Given the description of an element on the screen output the (x, y) to click on. 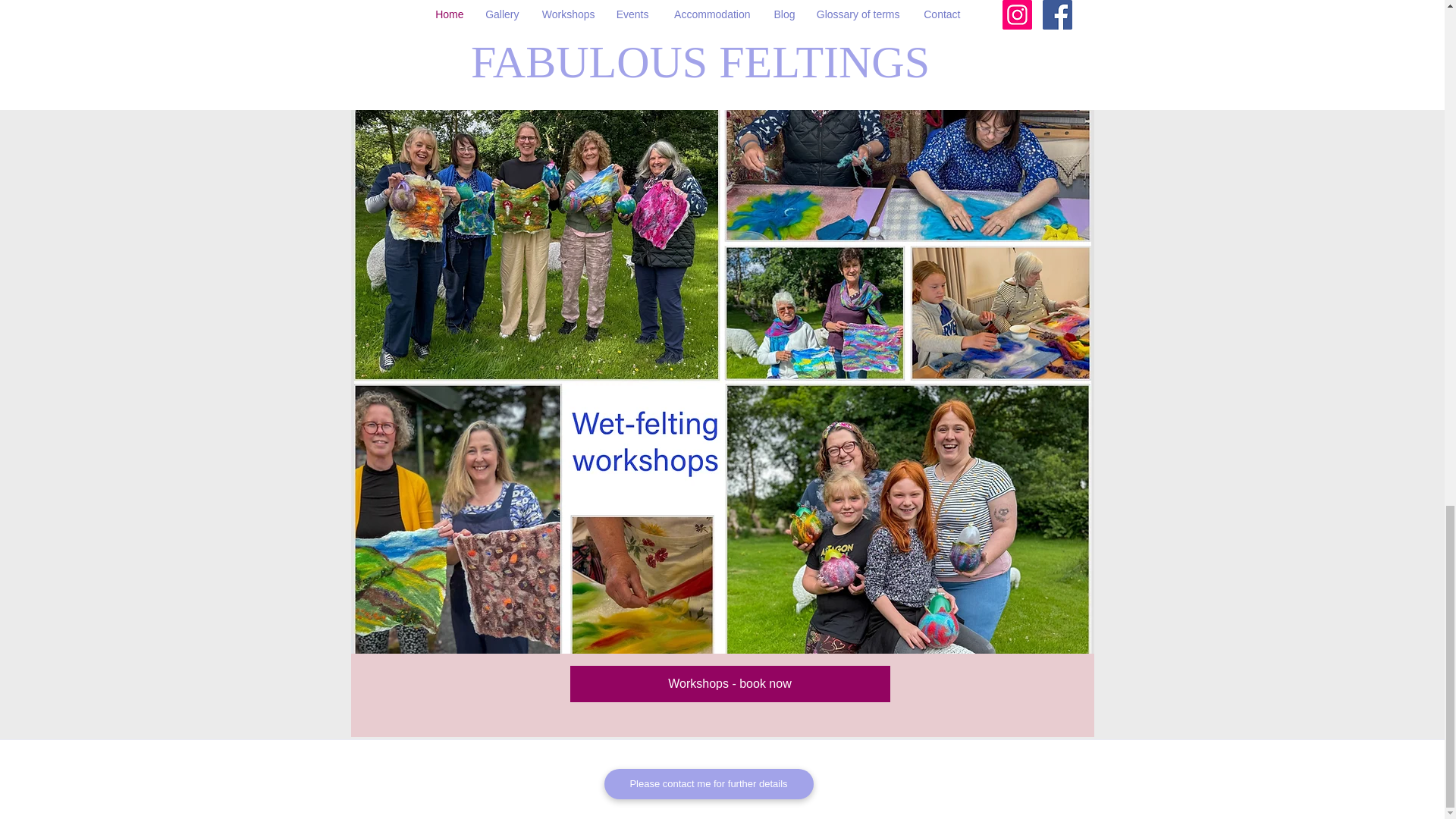
Workshops - book now (729, 683)
Please contact me for further details (708, 784)
More details (468, 31)
